Given the description of an element on the screen output the (x, y) to click on. 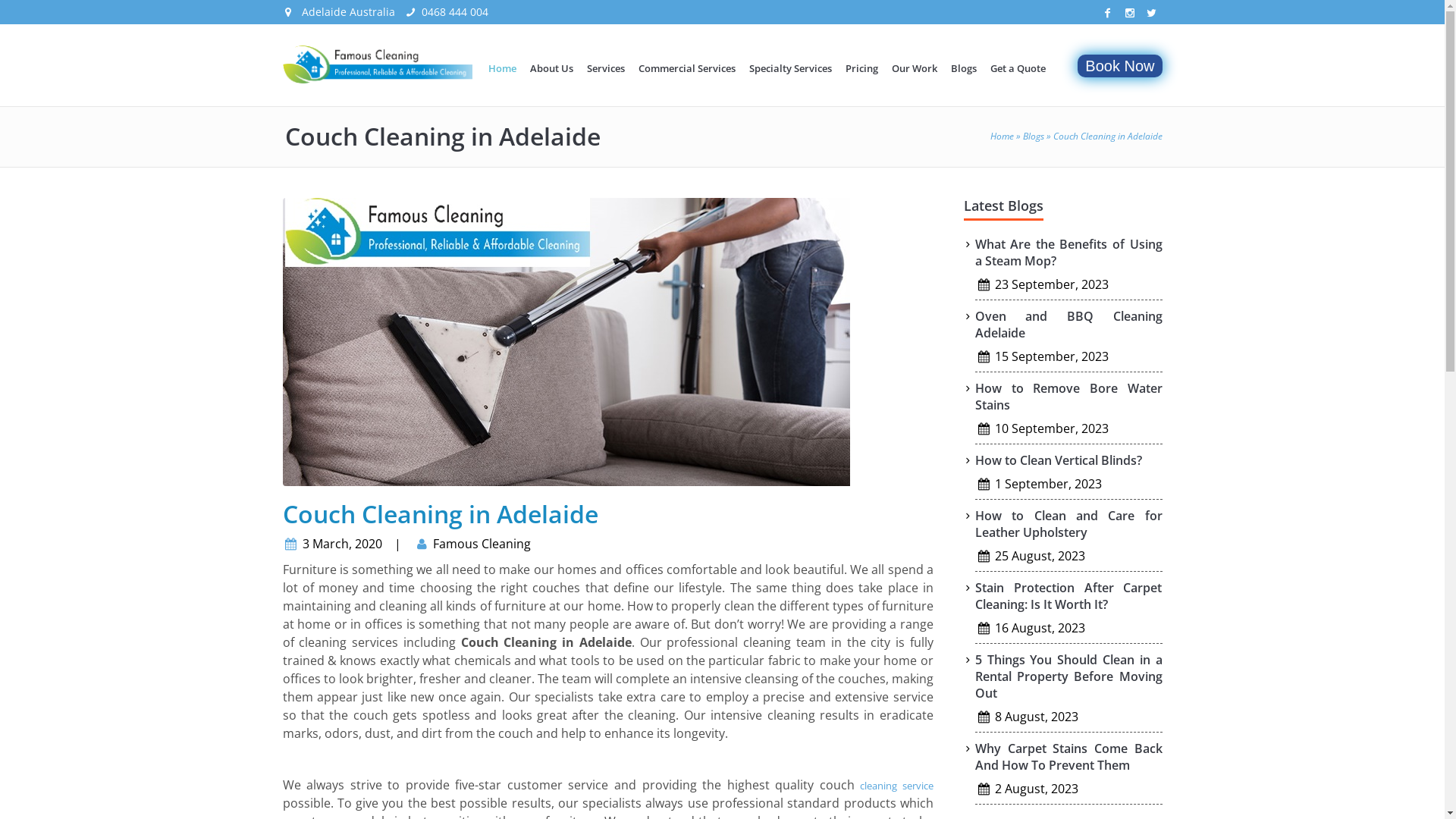
Blogs Element type: text (1032, 135)
About Us Element type: text (551, 67)
What Are the Benefits of Using a Steam Mop? Element type: text (1068, 252)
Get a Quote Element type: text (1017, 67)
Why Carpet Stains Come Back And How To Prevent Them Element type: text (1068, 756)
cleaning service Element type: text (896, 785)
Facebook Element type: hover (1106, 12)
Couch Cleaning in Adelaide Element type: hover (565, 341)
Oven and BBQ Cleaning Adelaide Element type: text (1068, 324)
Home Element type: text (502, 67)
Blogs Element type: text (963, 67)
Pricing Element type: text (861, 67)
Commercial Services Element type: text (686, 67)
How to Clean Vertical Blinds? Element type: text (1058, 459)
Home Element type: text (1001, 135)
How to Remove Bore Water Stains Element type: text (1068, 396)
Specialty Services Element type: text (790, 67)
Stain Protection After Carpet Cleaning: Is It Worth It? Element type: text (1068, 595)
Book Now Element type: text (1119, 65)
Our Work Element type: text (914, 67)
How to Clean and Care for Leather Upholstery Element type: text (1068, 523)
Services Element type: text (605, 67)
